Given the description of an element on the screen output the (x, y) to click on. 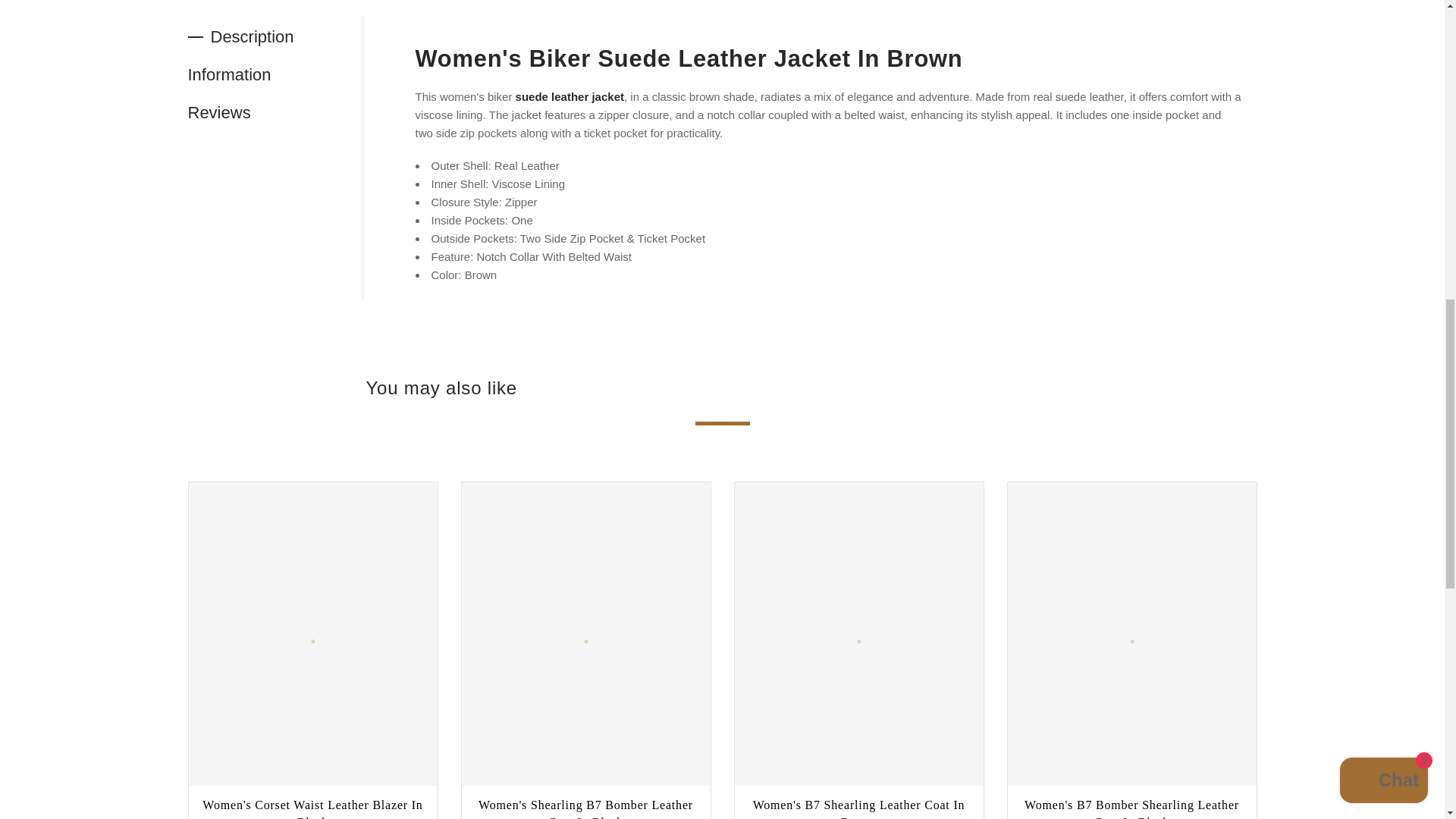
Women'S Corset Waist Leather Blazer In Black (312, 808)
Reviews (274, 112)
Women'S B7 Shearling Leather Coat In Brown (858, 808)
Description (274, 36)
suede leather jacket (569, 96)
Women's Biker Suede Leather Jacket In Brown (688, 58)
Women'S B7 Bomber Shearling Leather Coat In Black (1132, 808)
Information (274, 74)
Women's Suede Jackets (569, 96)
Women's Biker Suede Leather Jacket In Brown (688, 58)
Women'S Shearling B7 Bomber Leather Coat In Black (586, 808)
